Given the description of an element on the screen output the (x, y) to click on. 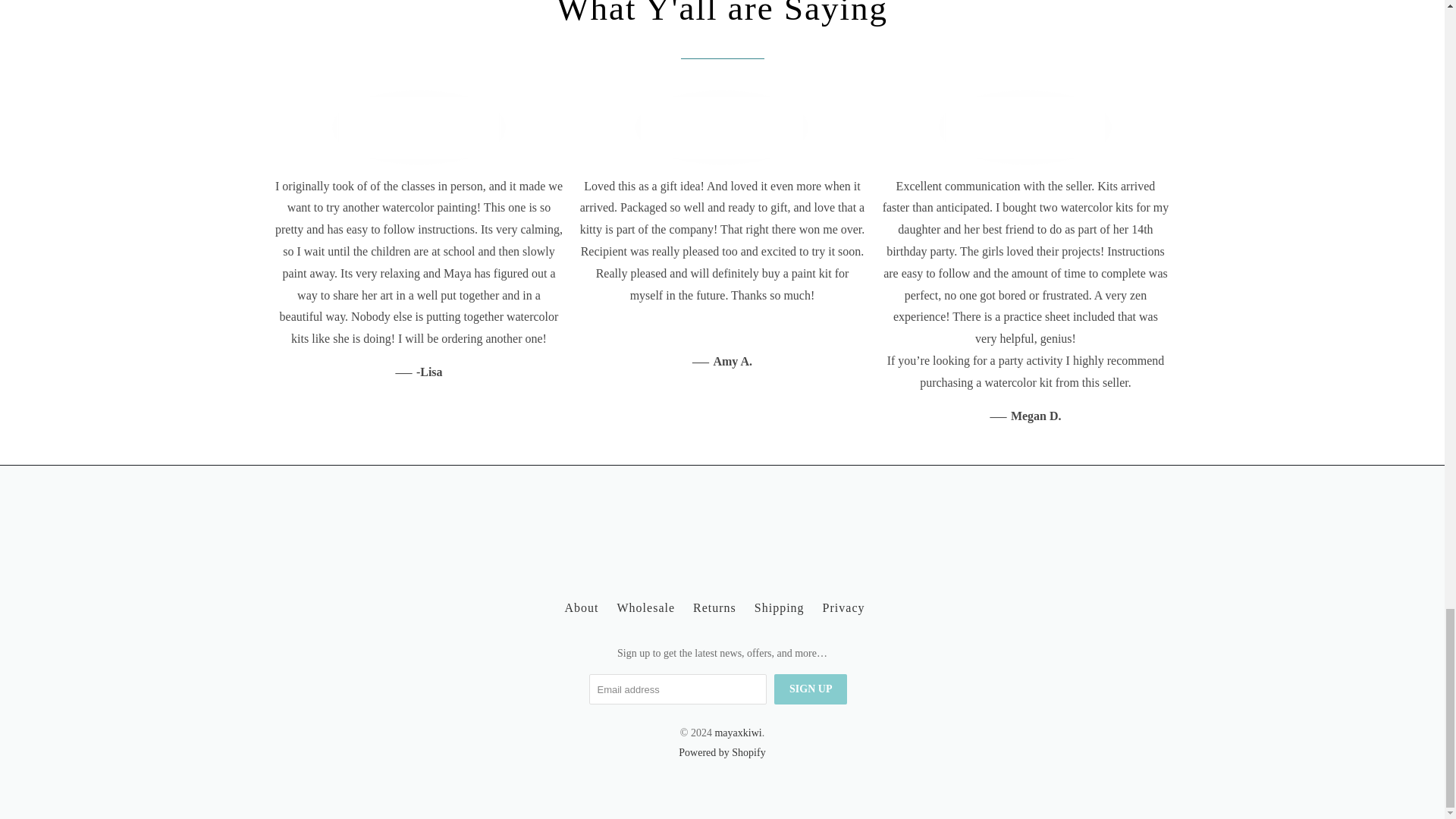
mayaxkiwi on Pinterest (722, 542)
mayaxkiwi on Instagram (808, 542)
mayaxkiwi on Facebook (636, 542)
Sign Up (810, 689)
